Given the description of an element on the screen output the (x, y) to click on. 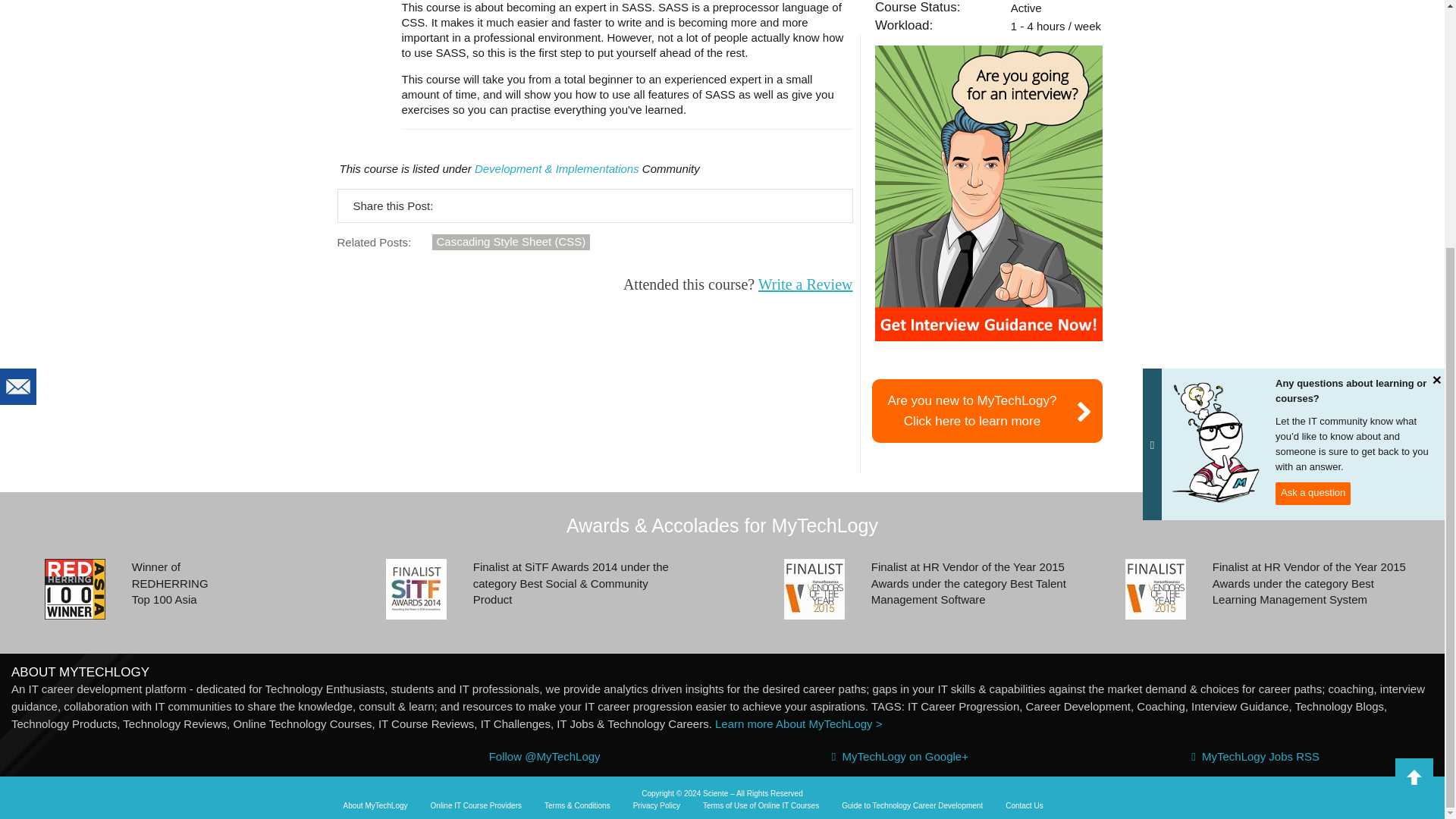
Going for an interview? Get Interview Guidance Now (988, 193)
Terms of Use of Online IT Courses (760, 805)
Guide to Technology Career Development (911, 805)
Ask a question (1313, 146)
Winner of REDHERRING Top 100 Asia (74, 588)
Online IT Course Providers (475, 805)
Contact Us (1024, 805)
Privacy Policy (656, 805)
Write a Review (987, 411)
About MyTechLogy (805, 284)
Subscribe to MyTechLogy Jobs RSS Feed (374, 805)
